Given the description of an element on the screen output the (x, y) to click on. 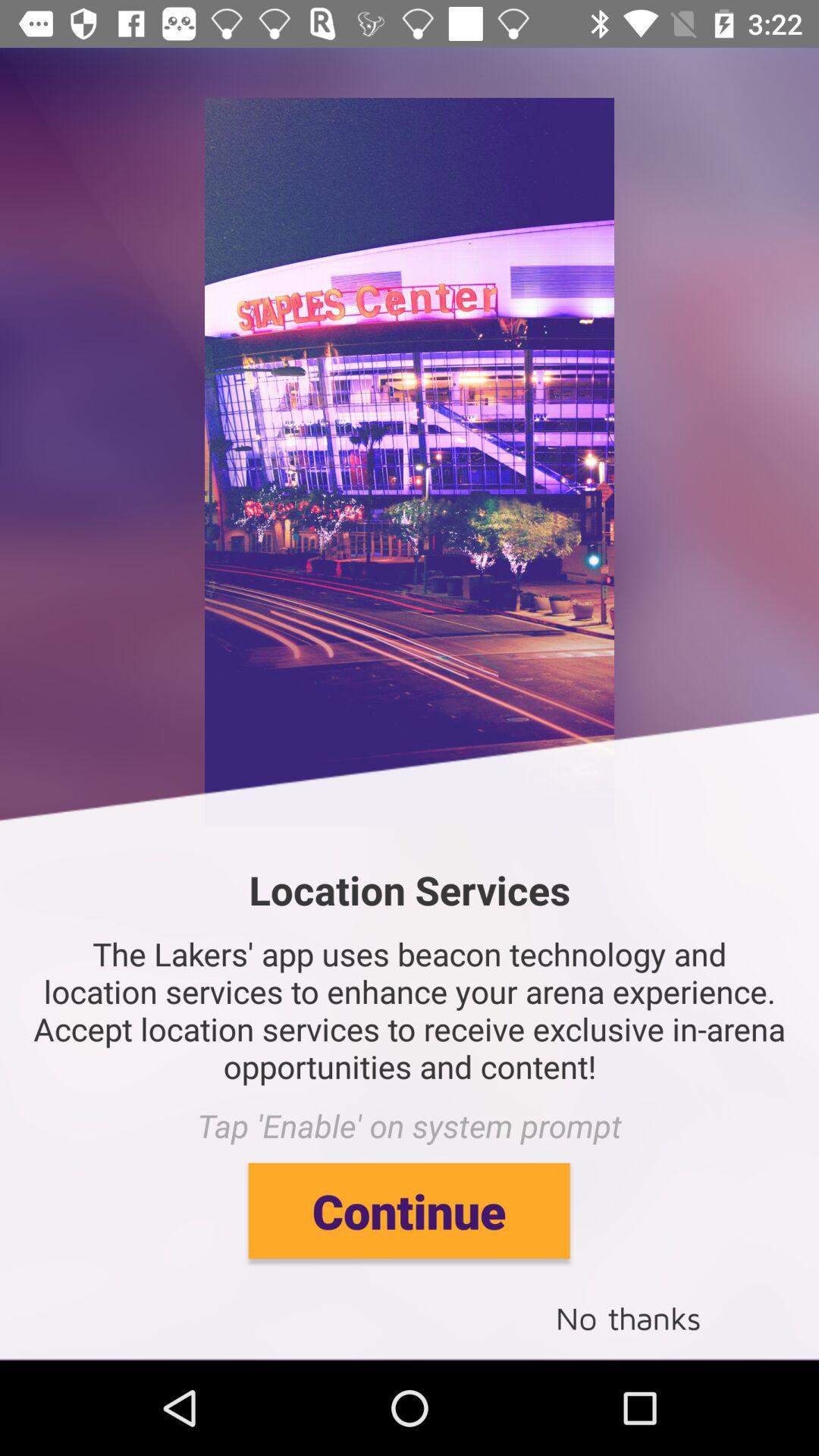
turn off item above the no thanks icon (408, 1210)
